Given the description of an element on the screen output the (x, y) to click on. 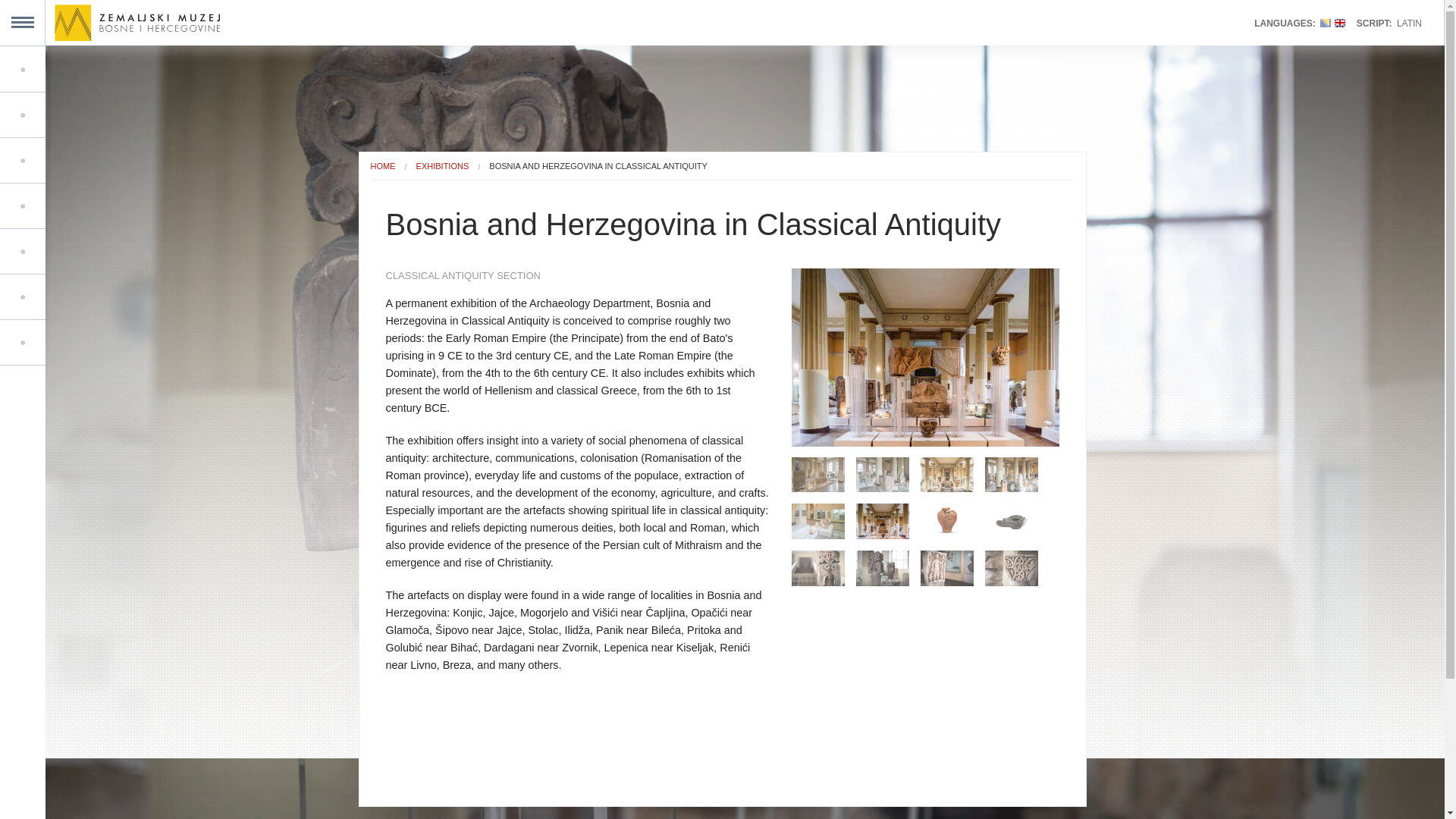
COLLECTIONS Element type: text (134, 159)
ABOUT THE MUSEUM Element type: text (134, 205)
HOMEPAGE Element type: text (134, 68)
CLASSICAL ANTIQUITY SECTION Element type: text (576, 275)
EXHIBITIONS Element type: text (134, 114)
SEARCH Element type: text (134, 341)
VISITOR INFO Element type: text (134, 250)
BOSNIA AND HERZEGOVINA IN CLASSICAL ANTIQUITY Element type: text (598, 165)
B/H/S Element type: text (1325, 23)
ENGLISH Element type: text (1339, 23)
EXHIBITIONS Element type: text (442, 165)
NEWS Element type: text (134, 296)
LATIN Element type: text (1408, 23)
HOME Element type: text (382, 165)
Skip to main content Element type: text (54, 0)
